Given the description of an element on the screen output the (x, y) to click on. 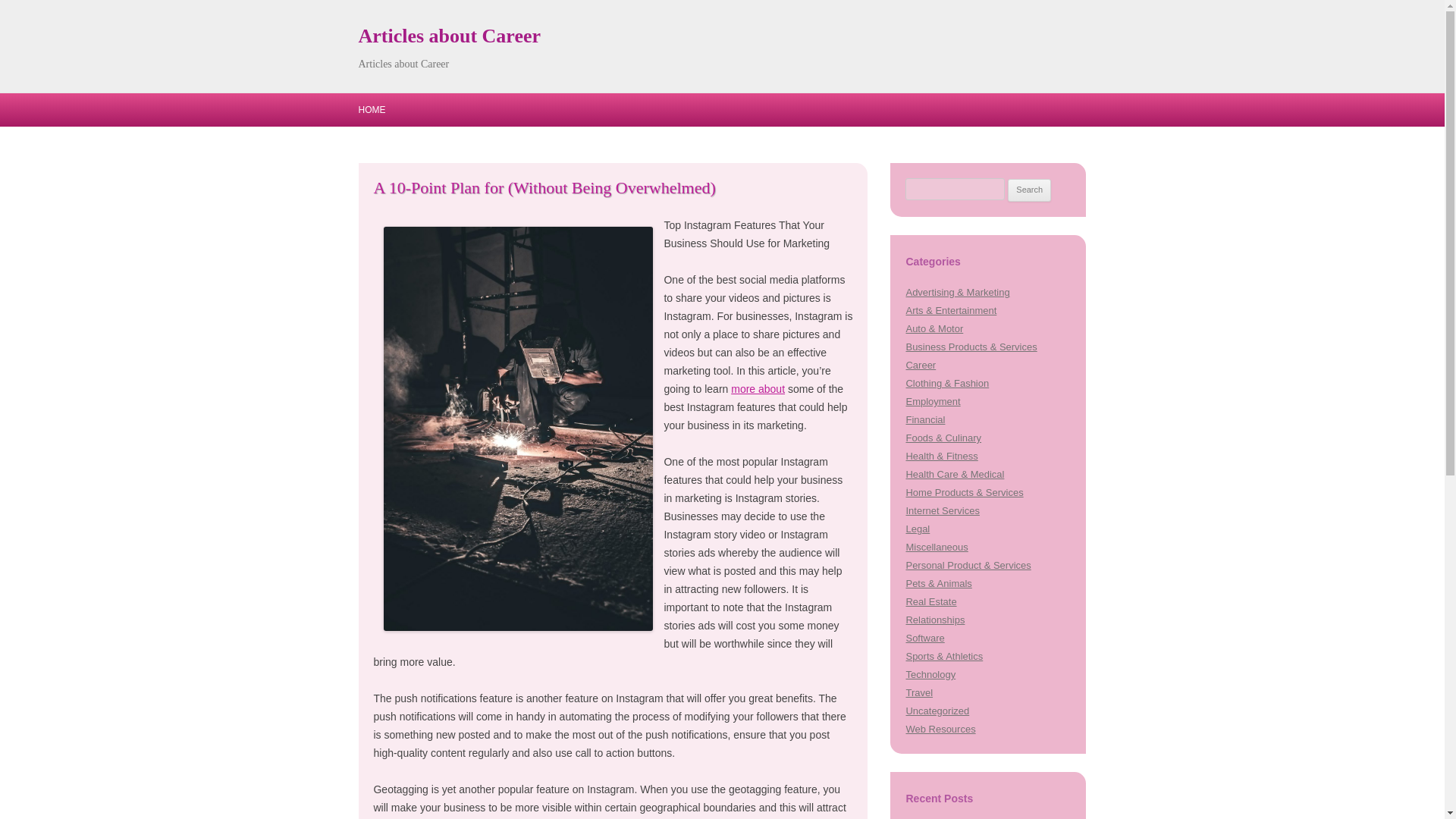
Career (920, 365)
more about (757, 388)
Travel (919, 692)
Legal (917, 528)
Real Estate (930, 601)
Employment (932, 401)
Relationships (934, 619)
Uncategorized (937, 710)
Web Resources (940, 728)
Financial (924, 419)
